Given the description of an element on the screen output the (x, y) to click on. 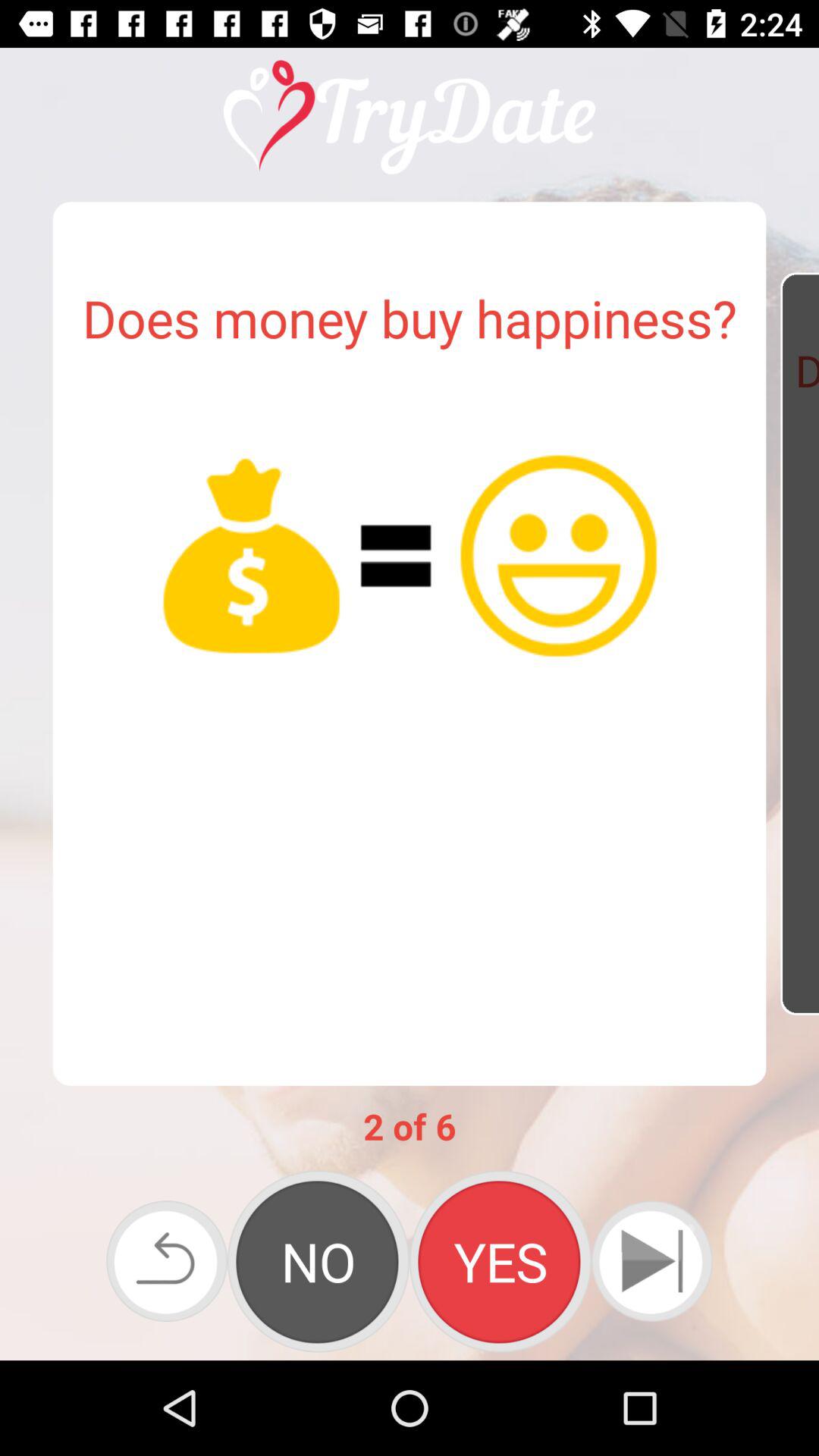
select the icon at the bottom right corner (651, 1260)
